Given the description of an element on the screen output the (x, y) to click on. 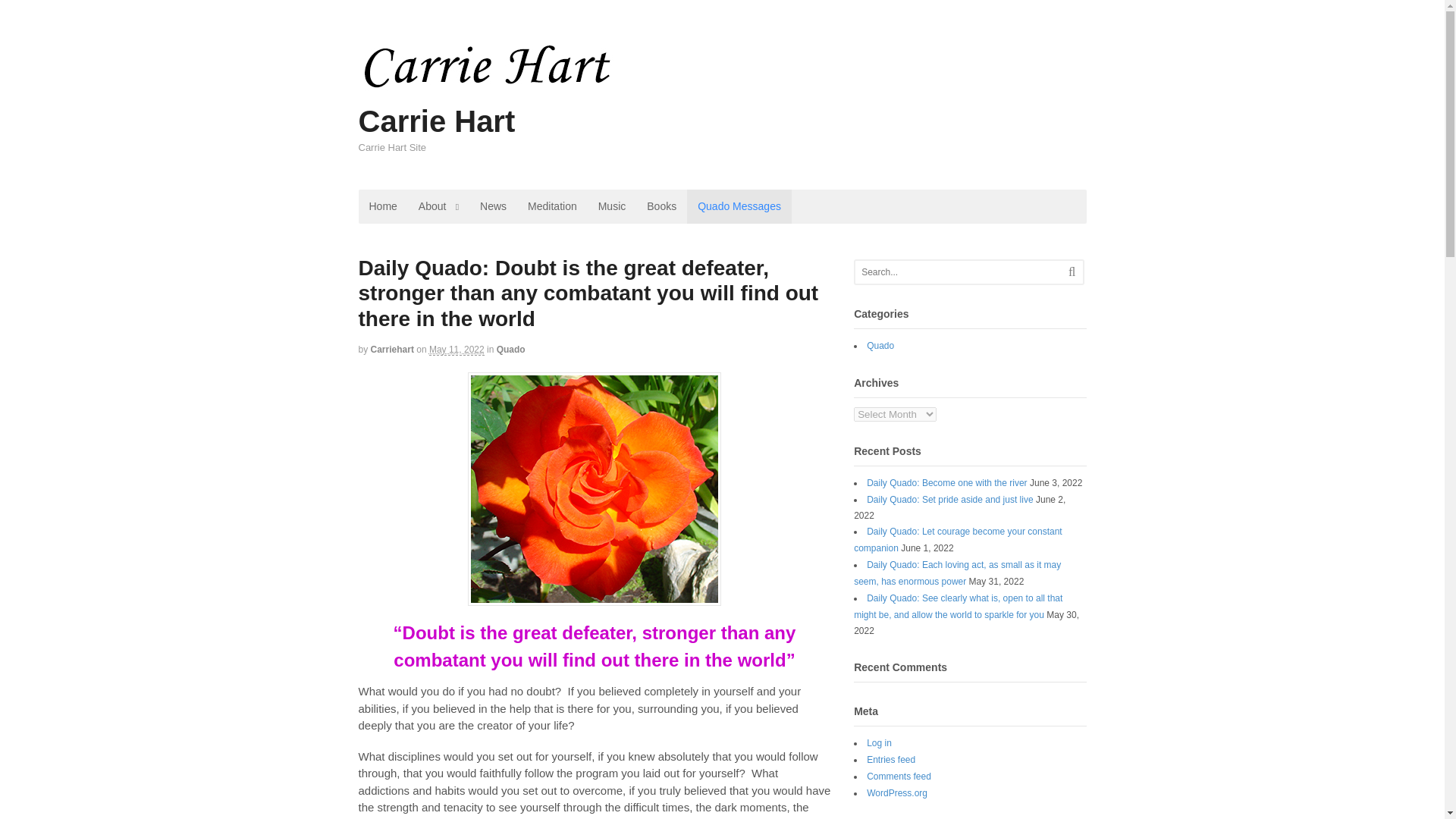
Daily Quado: Become one with the river (946, 482)
Books (661, 206)
View all items in Quado (510, 348)
Quado Messages (739, 206)
Carrie Hart Site (547, 98)
Daily Quado: Let courage become your constant companion (957, 539)
Meditation (552, 206)
Daily Quado: Set pride aside and just live (949, 499)
Music (612, 206)
